Given the description of an element on the screen output the (x, y) to click on. 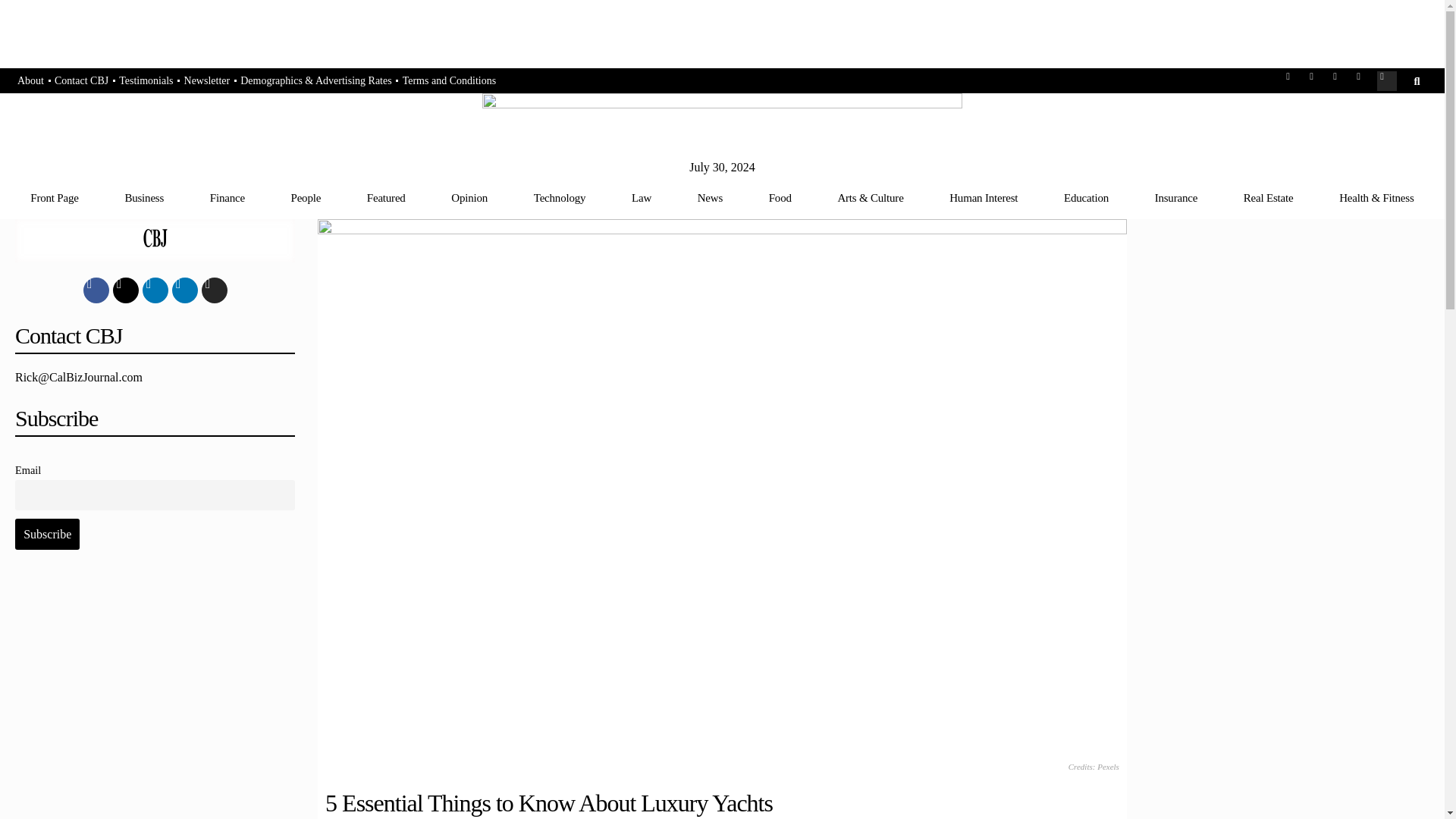
Real Estate (1268, 197)
Insurance (1175, 197)
About (30, 81)
Front Page (54, 197)
People (305, 197)
Law (641, 197)
Testimonials (145, 81)
Education (1086, 197)
Business (143, 197)
Subscribe (47, 533)
Finance (226, 197)
News (709, 197)
Human Interest (983, 197)
Terms and Conditions (448, 81)
Contact CBJ (81, 81)
